Given the description of an element on the screen output the (x, y) to click on. 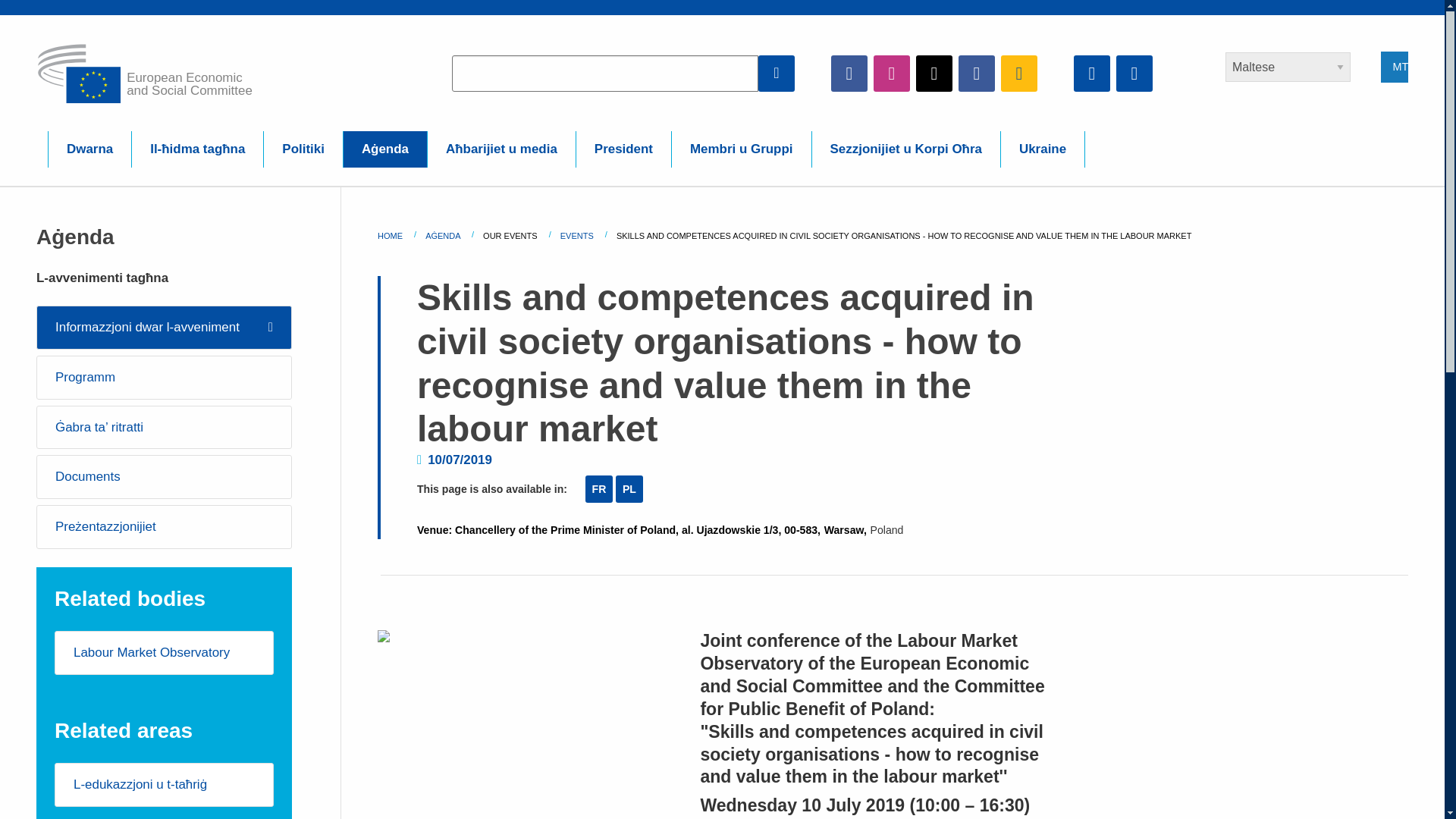
Apply (776, 72)
